Given the description of an element on the screen output the (x, y) to click on. 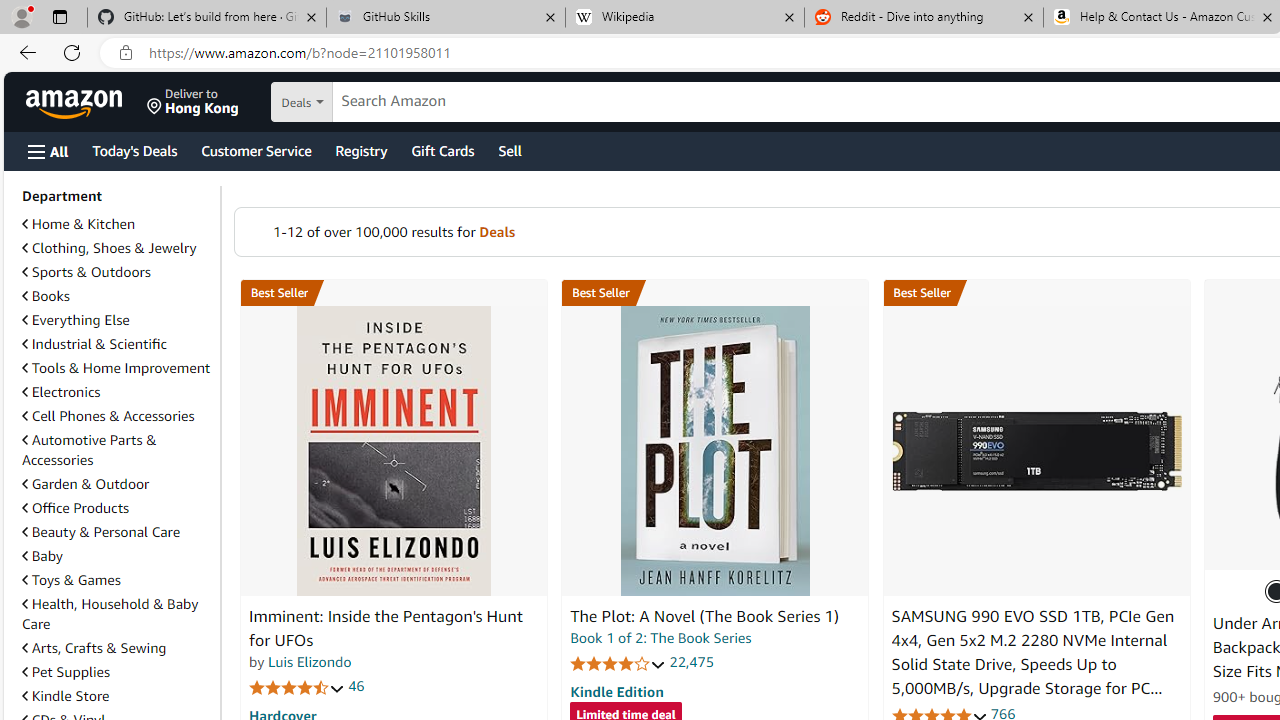
Garden & Outdoor (117, 483)
Best Seller in Heist Thrillers (715, 293)
Pet Supplies (117, 671)
Registry (360, 150)
Beauty & Personal Care (117, 532)
Imminent: Inside the Pentagon's Hunt for UFOs (393, 451)
4.7 out of 5 stars (297, 686)
Best Seller in Unexplained Mysteries (393, 293)
Search in (371, 102)
Industrial & Scientific (94, 343)
Luis Elizondo (309, 662)
Cell Phones & Accessories (107, 415)
Baby (41, 556)
